Given the description of an element on the screen output the (x, y) to click on. 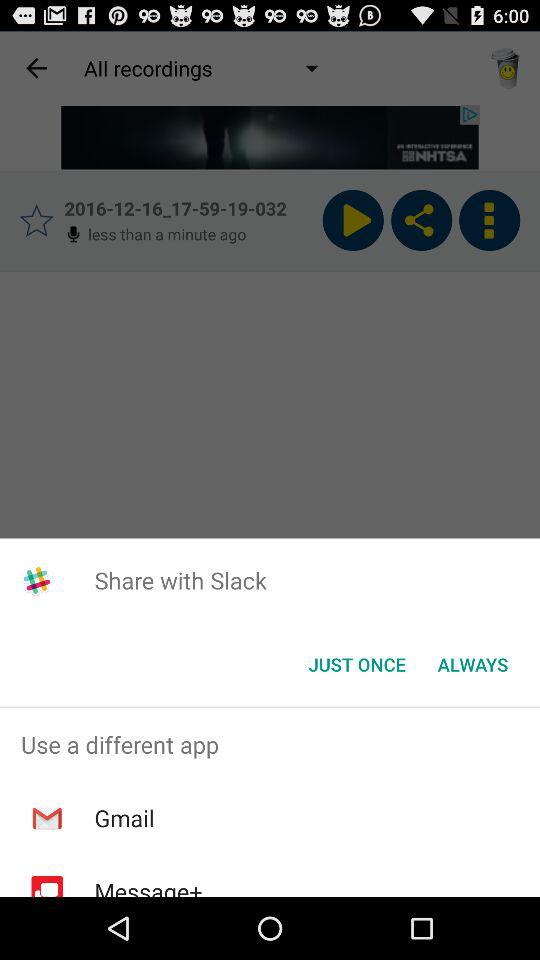
jump to the use a different icon (270, 744)
